Given the description of an element on the screen output the (x, y) to click on. 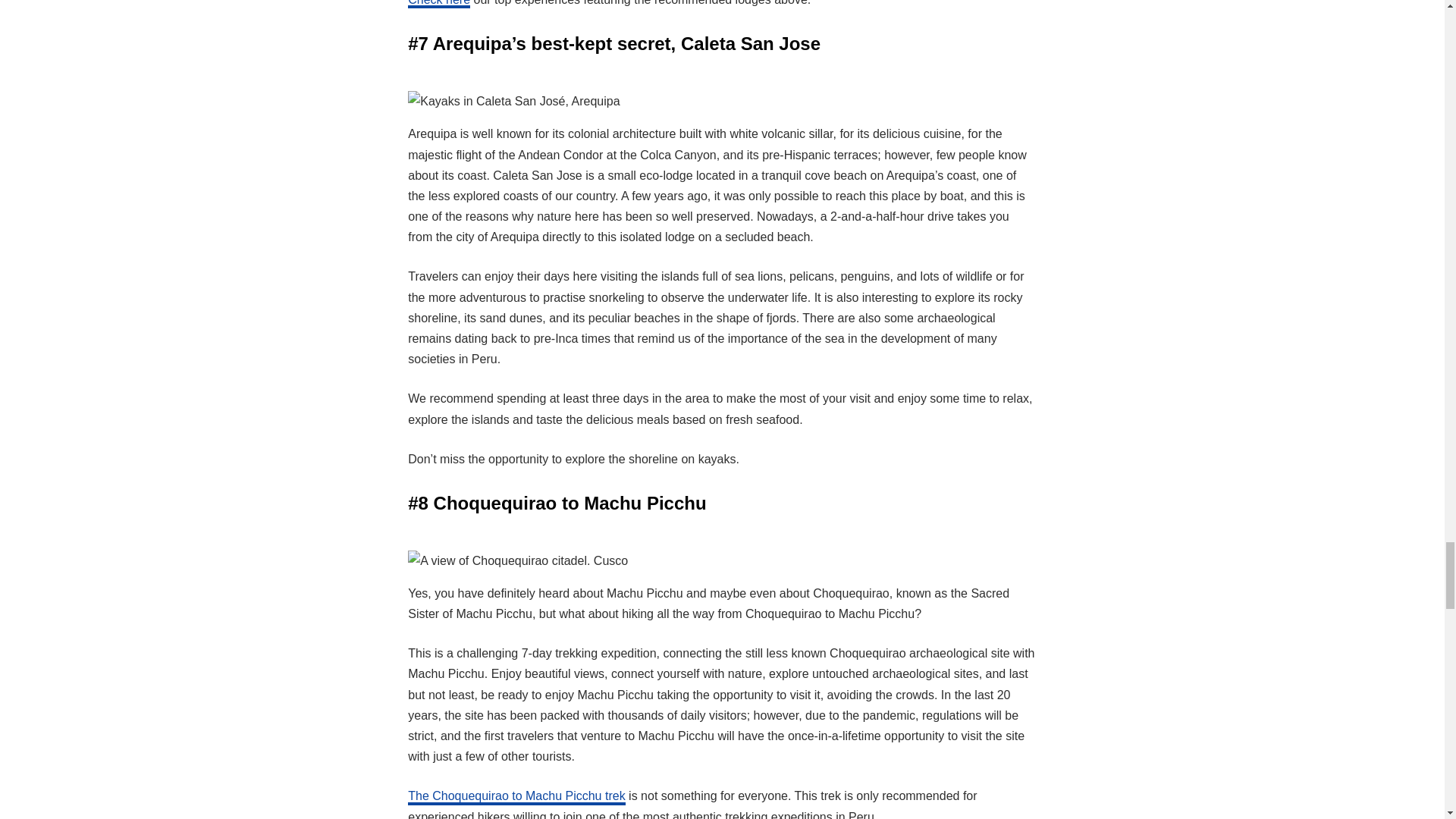
Check here (438, 4)
The Choquequirao to Machu Picchu trek (515, 797)
